Given the description of an element on the screen output the (x, y) to click on. 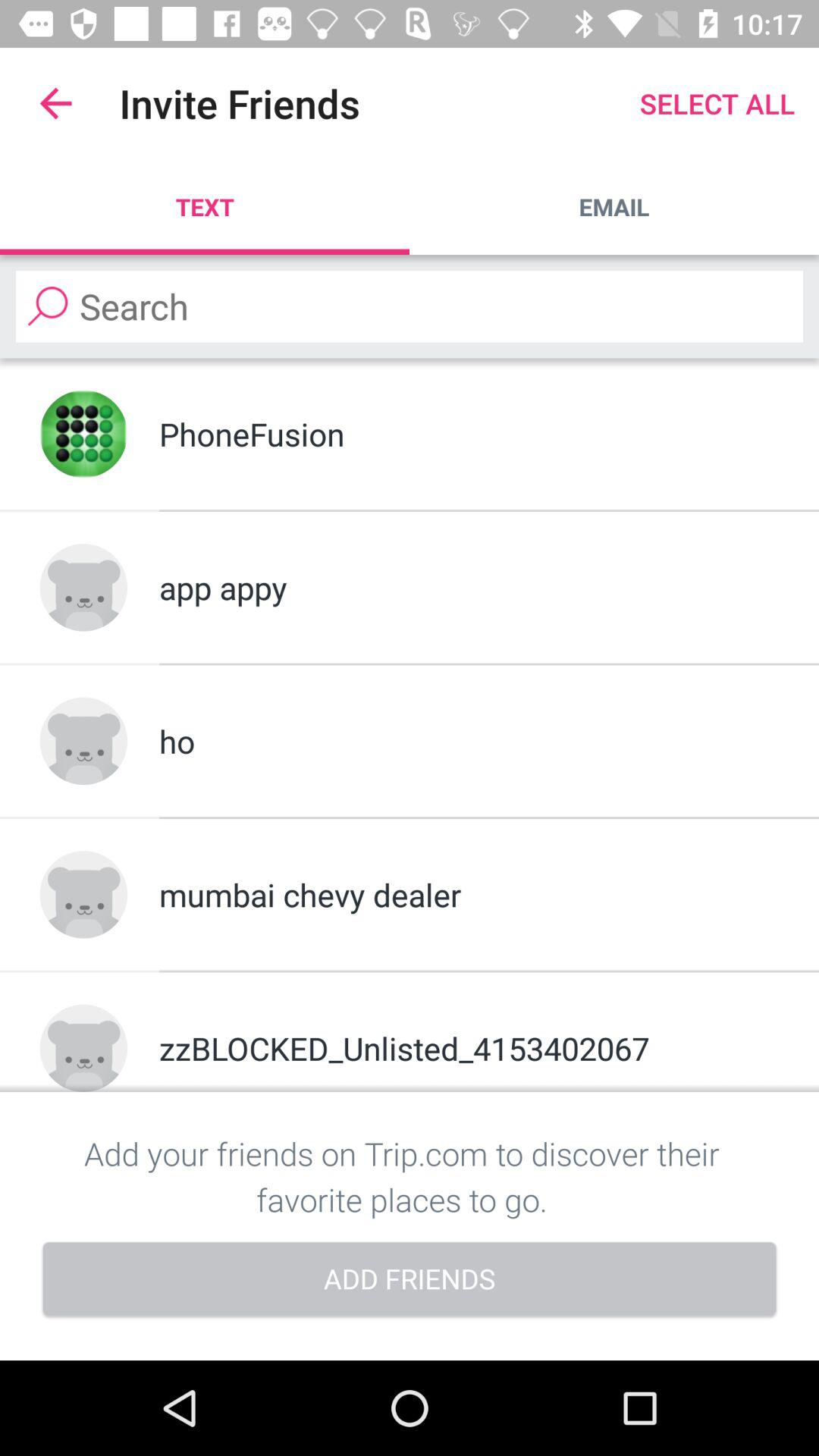
search friends (409, 306)
